Given the description of an element on the screen output the (x, y) to click on. 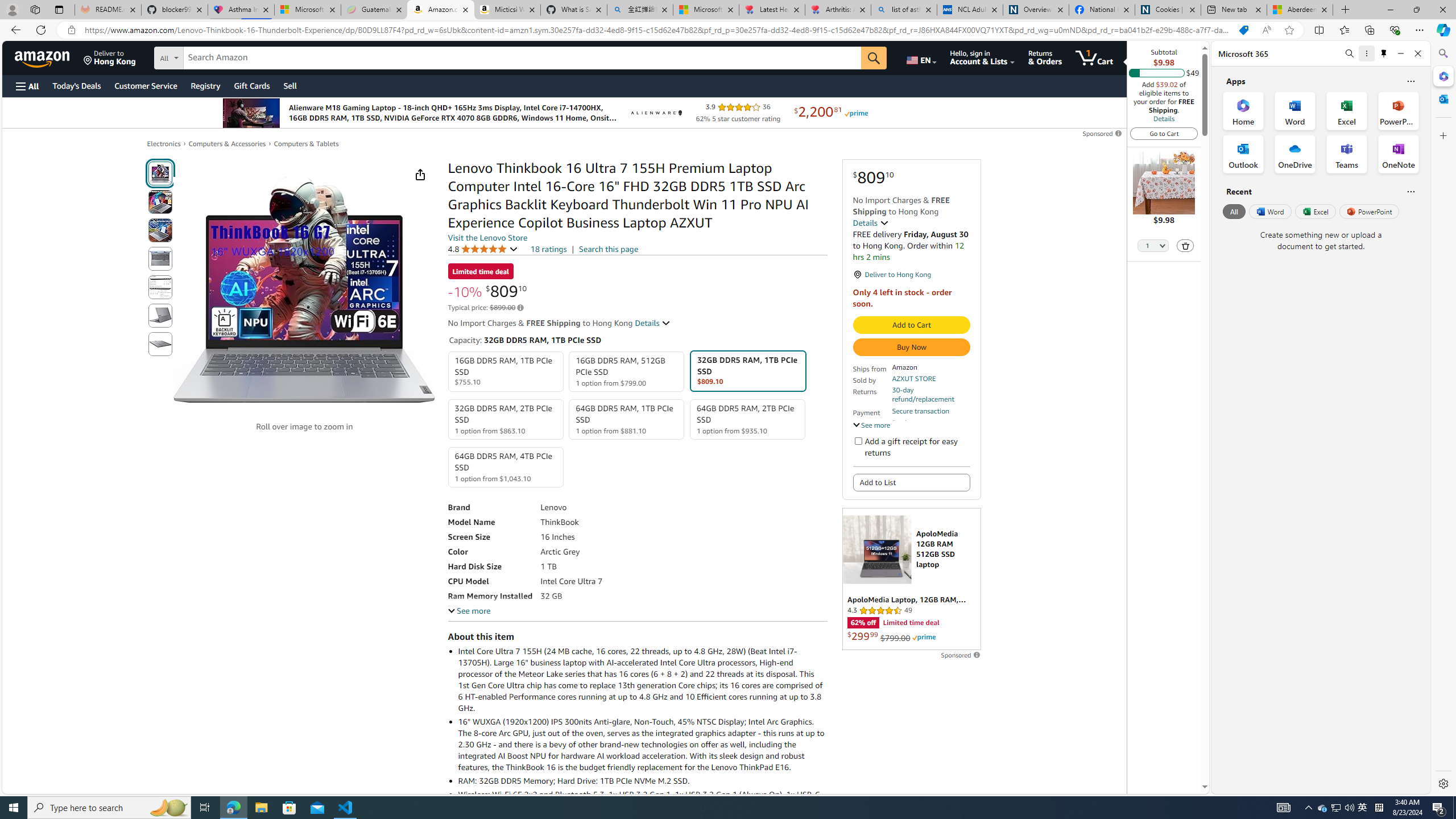
Open Menu (26, 86)
Sponsored ad (911, 578)
Cookies | About | NICE (1167, 9)
32GB DDR5 RAM, 2TB PCIe SSD 1 option from $863.10 (505, 418)
PowerPoint Office App (1398, 110)
